Given the description of an element on the screen output the (x, y) to click on. 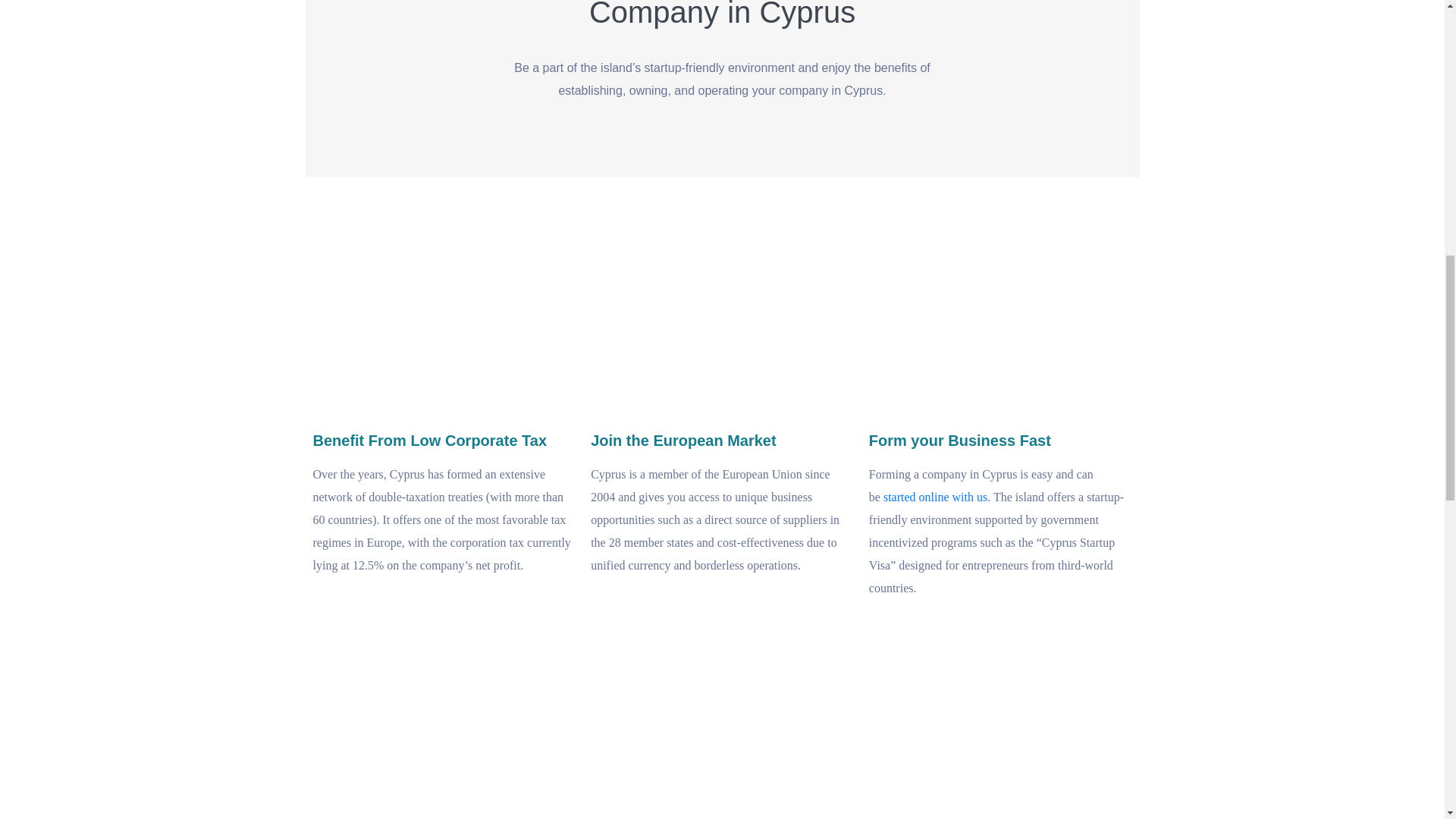
started online with us (935, 496)
